Given the description of an element on the screen output the (x, y) to click on. 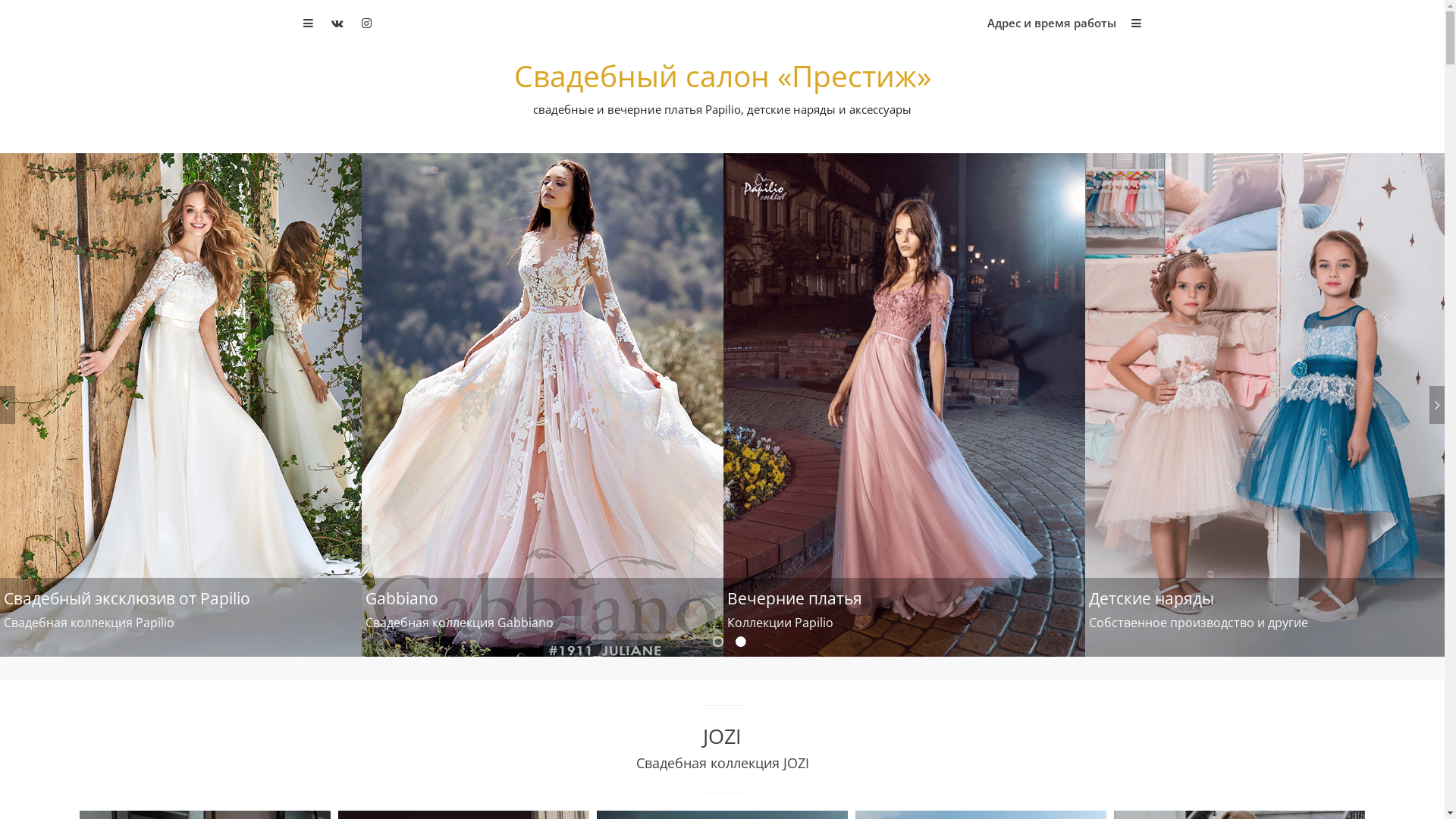
2 Element type: text (741, 641)
NEXT Element type: text (1436, 404)
PREVIOUS Element type: text (7, 404)
Skip to content Element type: text (0, 0)
1 Element type: text (718, 641)
